Given the description of an element on the screen output the (x, y) to click on. 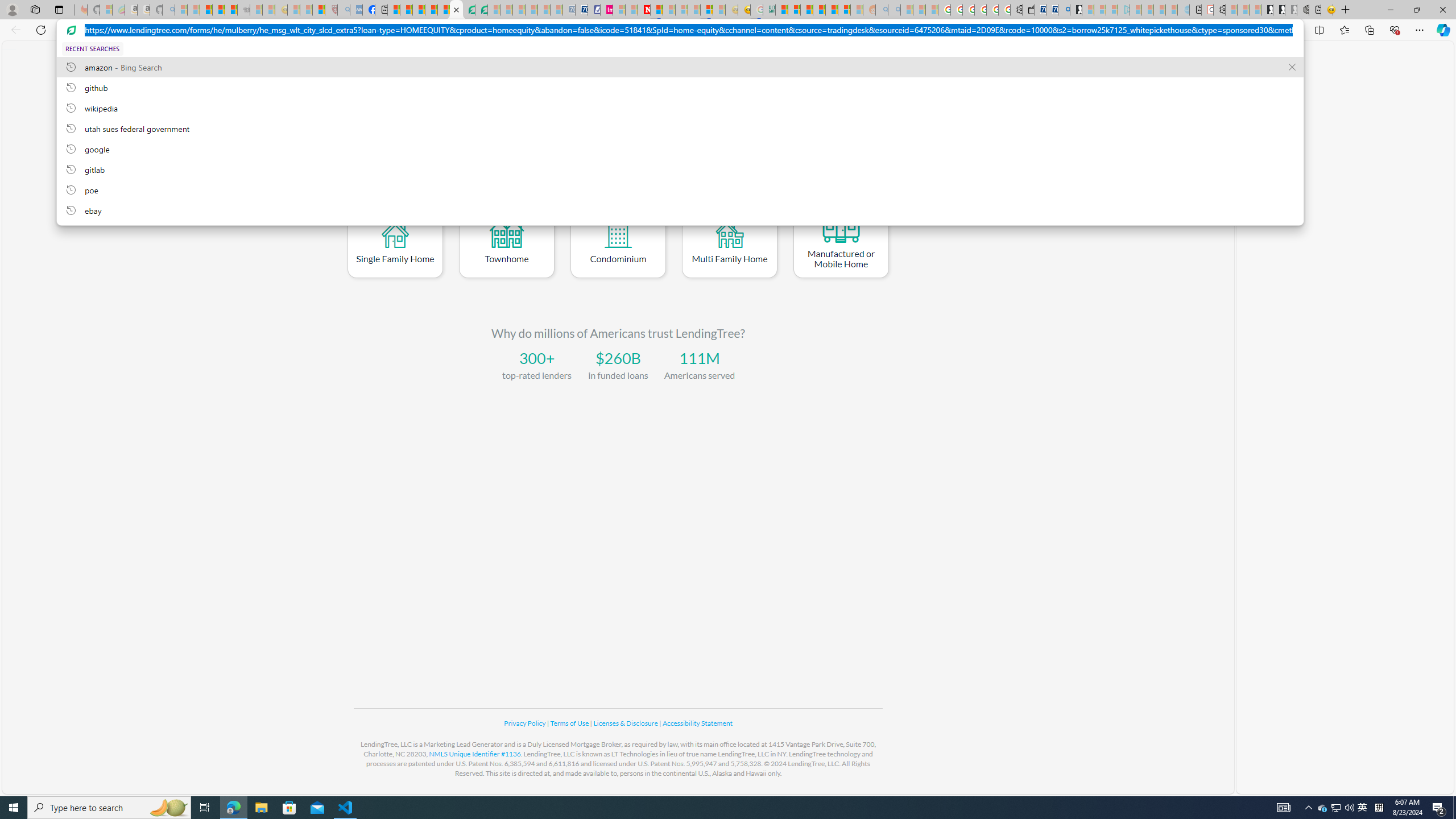
Terms of Use  (569, 723)
Remove suggestion (1291, 66)
